Given the description of an element on the screen output the (x, y) to click on. 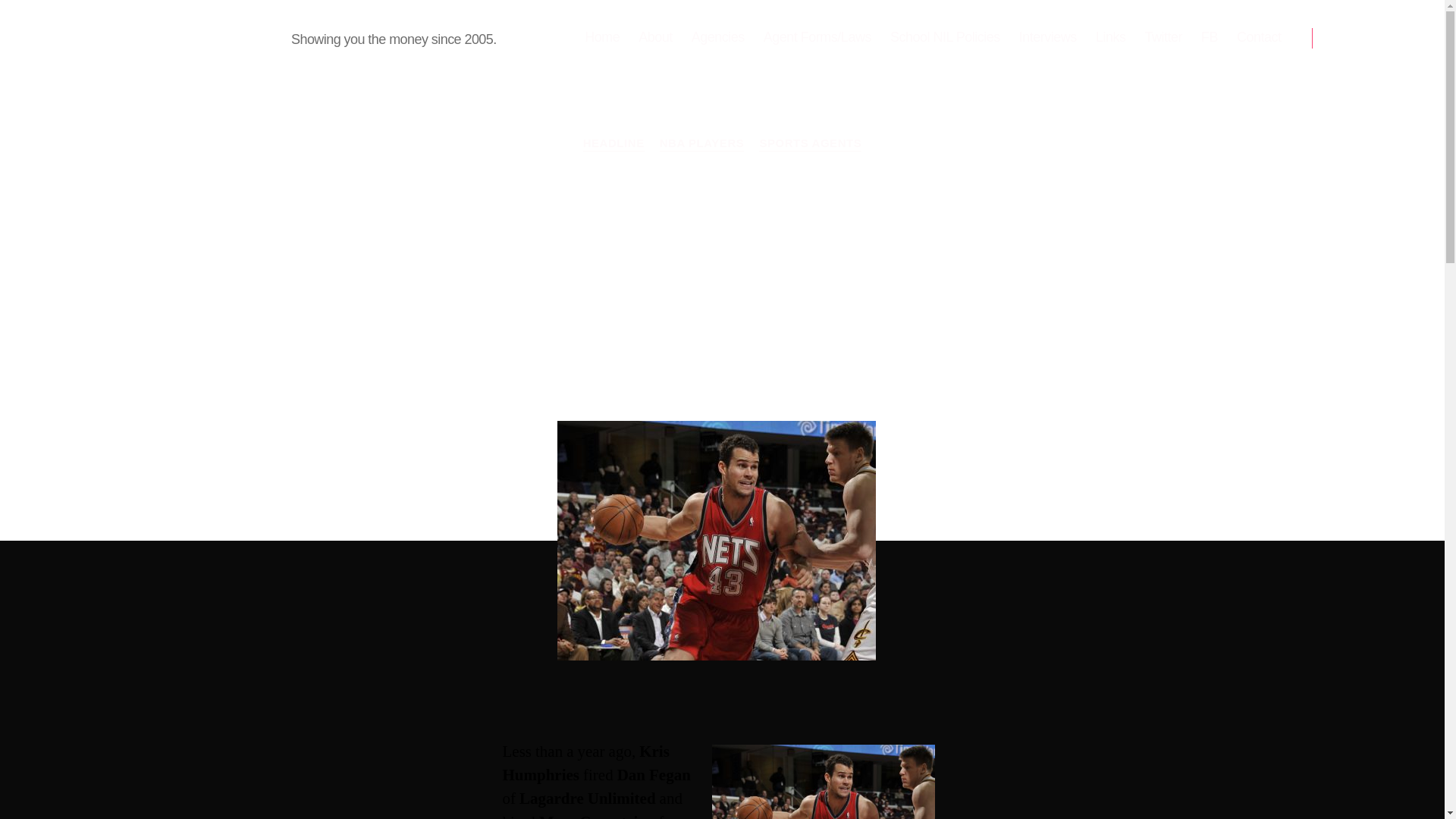
Agencies (717, 37)
HEADLINE (614, 143)
About (655, 37)
Search (1350, 37)
Home (602, 37)
NBA PLAYERS (701, 143)
SPORTS AGENTS (809, 143)
School NIL Policies (944, 37)
Links (1110, 37)
Contact (1258, 37)
